Given the description of an element on the screen output the (x, y) to click on. 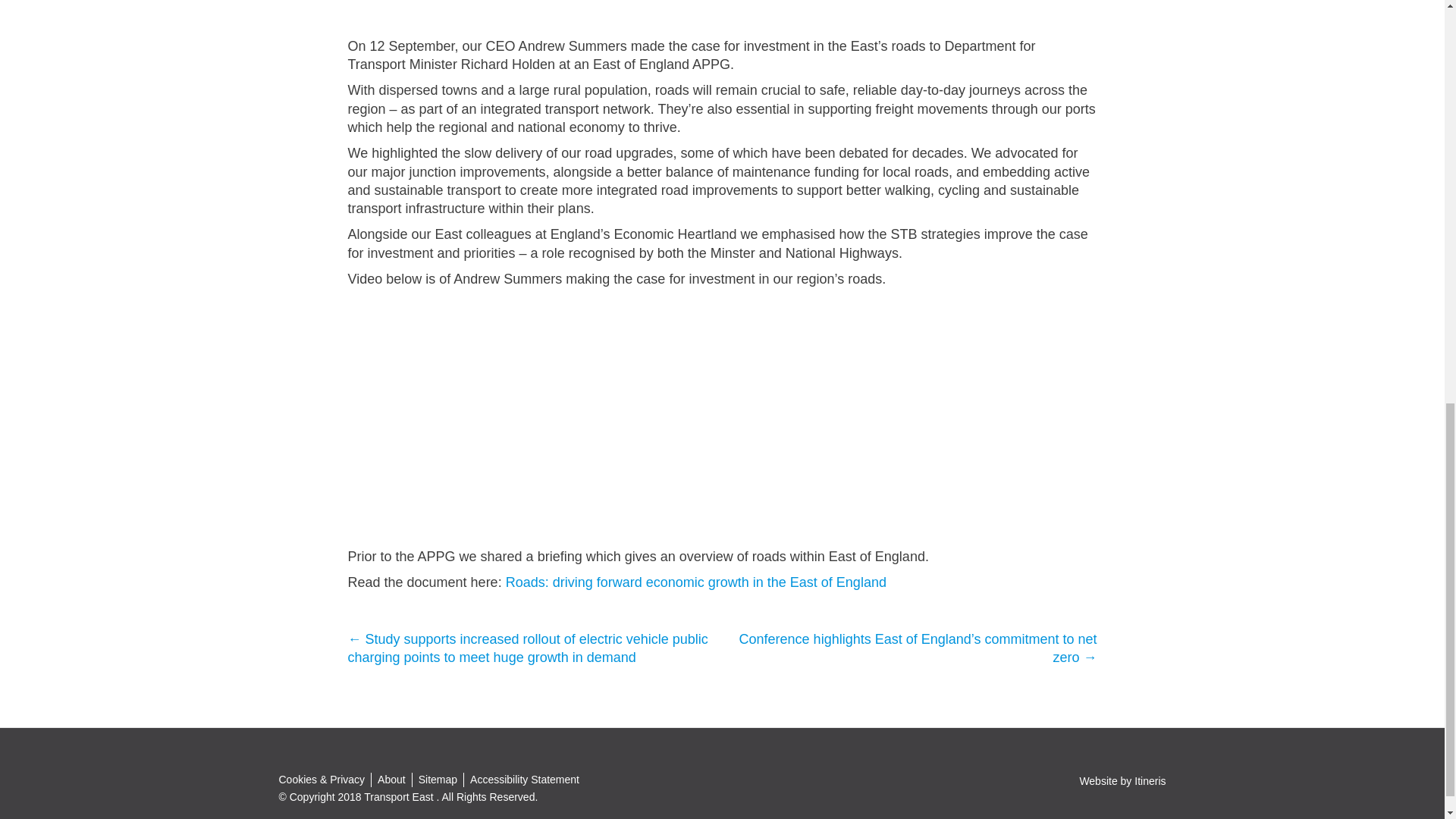
Itineris (1150, 780)
Sitemap (437, 780)
Accessibility Statement (524, 780)
About (391, 780)
